Given the description of an element on the screen output the (x, y) to click on. 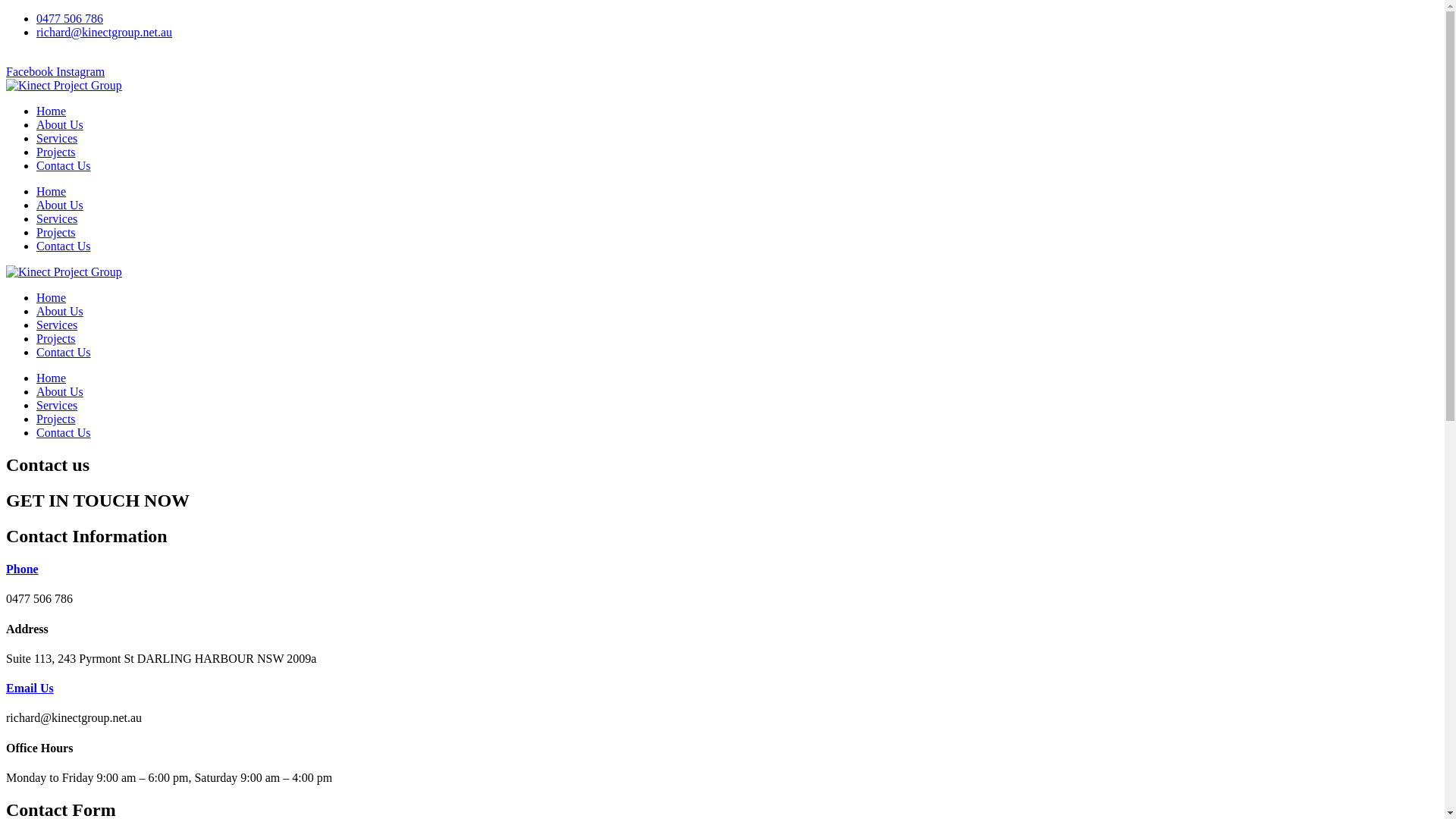
Services Element type: text (56, 324)
About Us Element type: text (59, 391)
Projects Element type: text (55, 151)
Services Element type: text (56, 218)
Home Element type: text (50, 377)
Services Element type: text (56, 404)
Facebook Element type: text (31, 71)
Contact Us Element type: text (63, 351)
Projects Element type: text (55, 338)
Contact Us Element type: text (63, 245)
Contact Us Element type: text (63, 432)
Projects Element type: text (55, 231)
Home Element type: text (50, 297)
Home Element type: text (50, 110)
Projects Element type: text (55, 418)
Email Us Element type: text (29, 687)
Contact Us Element type: text (63, 165)
Services Element type: text (56, 137)
0477 506 786 Element type: text (69, 18)
About Us Element type: text (59, 124)
richard@kinectgroup.net.au Element type: text (104, 31)
About Us Element type: text (59, 310)
About Us Element type: text (59, 204)
Home Element type: text (50, 191)
Phone Element type: text (22, 568)
Instagram Element type: text (80, 71)
